Given the description of an element on the screen output the (x, y) to click on. 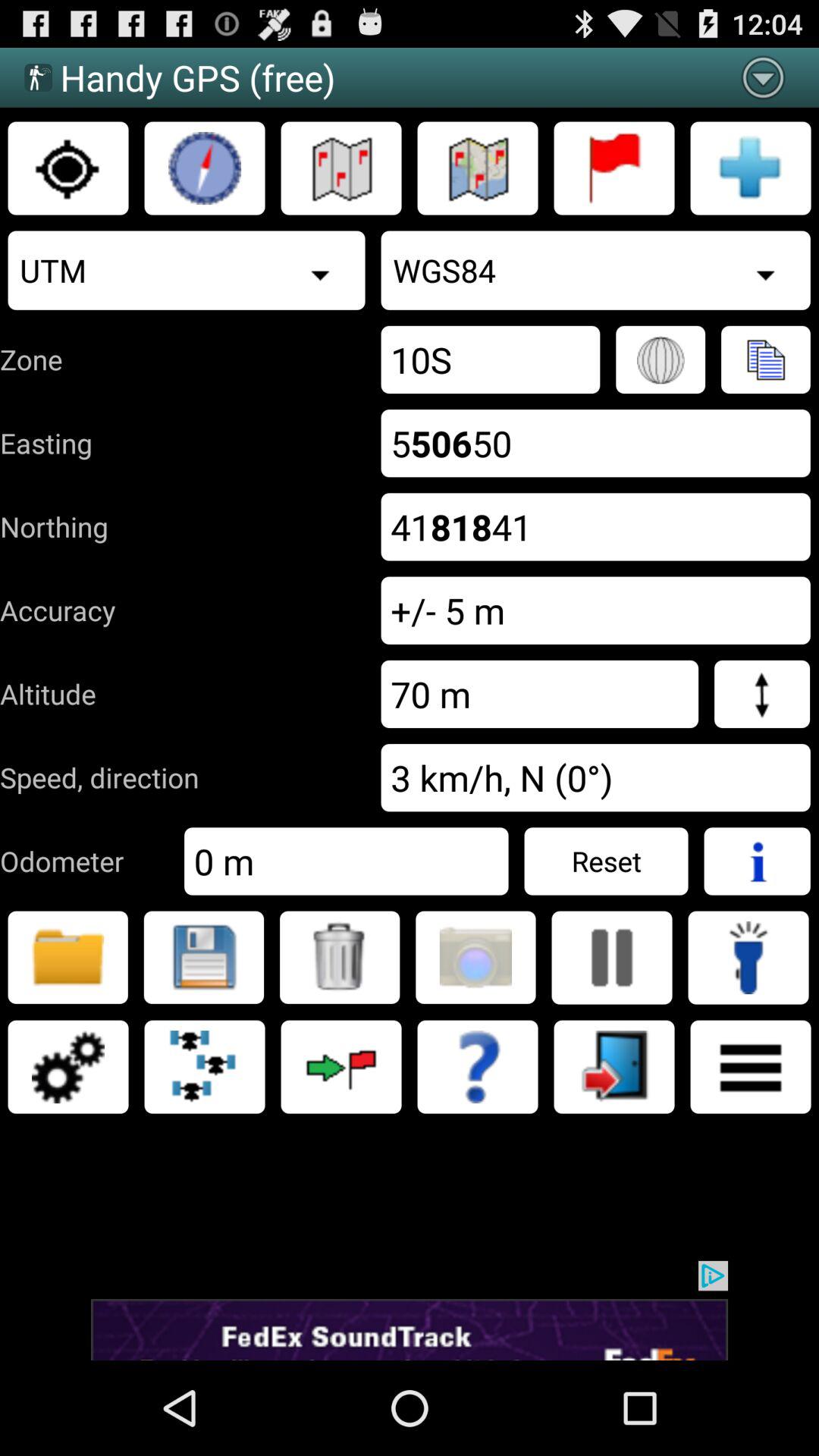
opens up advertisement (409, 1310)
